Given the description of an element on the screen output the (x, y) to click on. 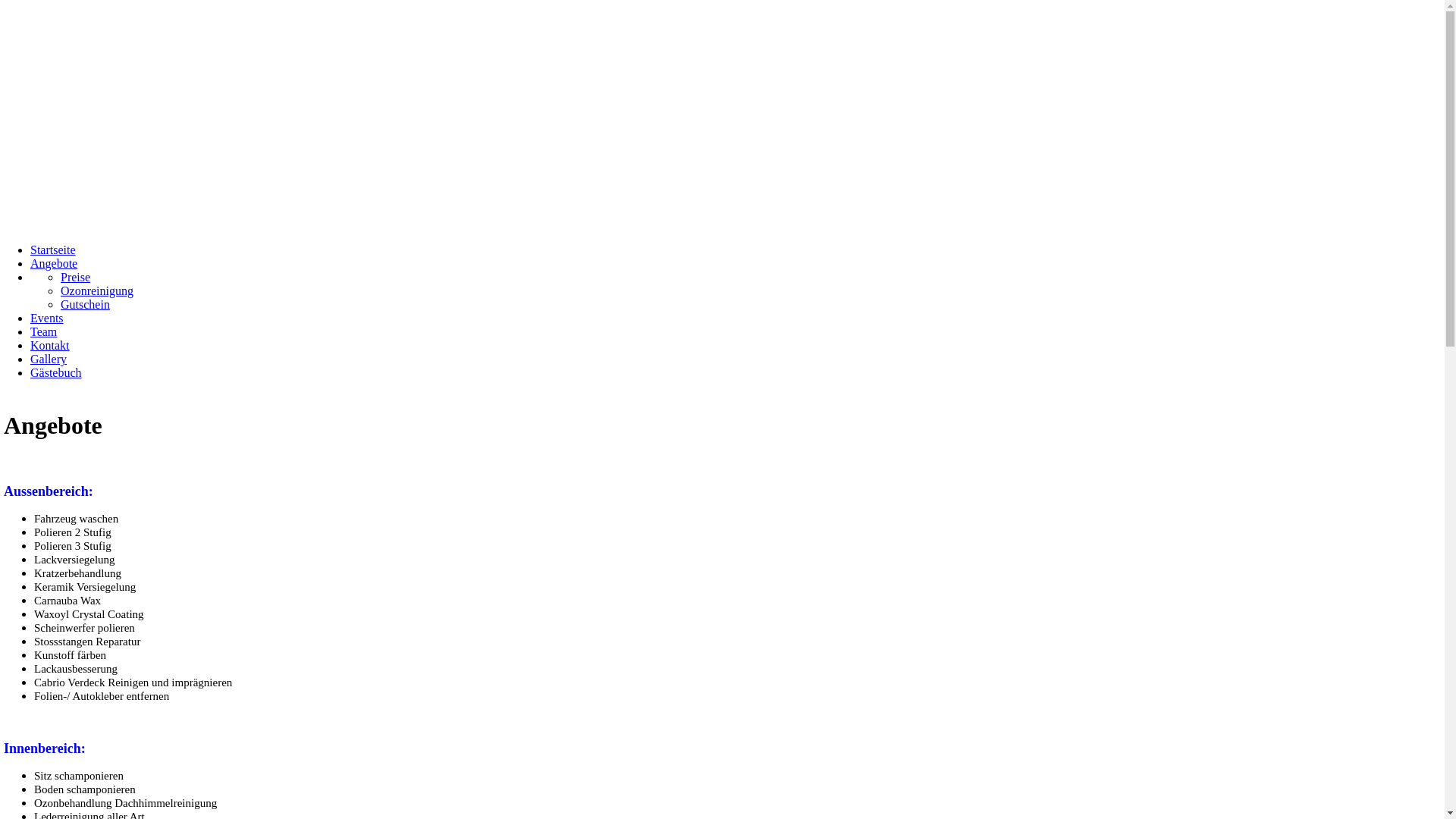
Preise Element type: text (75, 276)
Angebote Element type: text (53, 263)
Events Element type: text (46, 317)
Kontakt Element type: text (49, 344)
Startseite Element type: text (52, 249)
Team Element type: text (43, 331)
Gallery Element type: text (48, 358)
Gutschein Element type: text (84, 304)
Ozonreinigung Element type: text (96, 290)
